Given the description of an element on the screen output the (x, y) to click on. 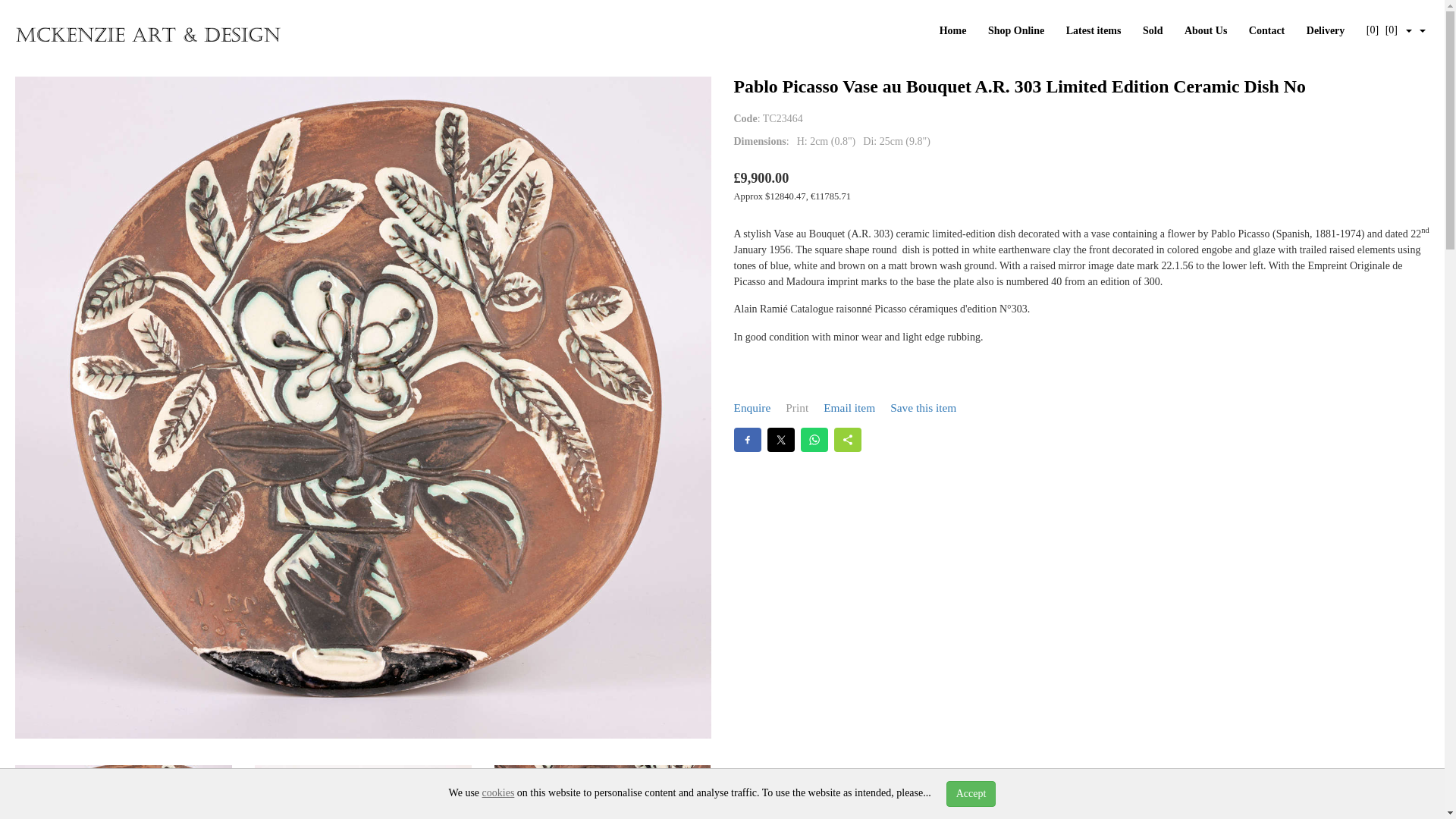
About Us (1206, 30)
Delivery (1325, 30)
Accept (970, 793)
cookies (498, 792)
Contact (1266, 30)
Sold (1151, 30)
Save this item (922, 407)
Email item (849, 407)
Shop Online (1015, 30)
Latest items (1093, 30)
Home (952, 30)
Print (797, 407)
Enquire (752, 407)
